Given the description of an element on the screen output the (x, y) to click on. 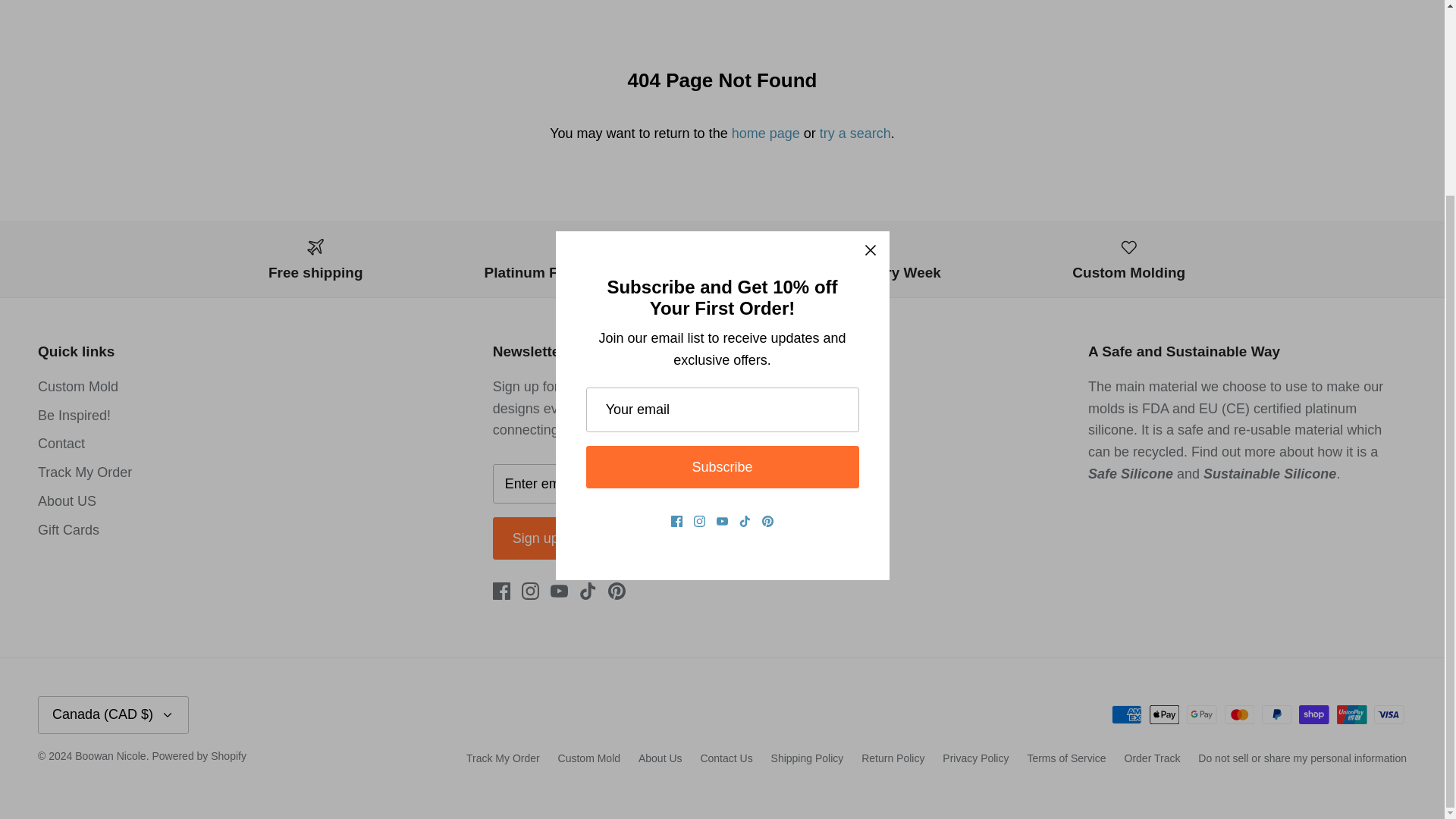
American Express (1126, 714)
Instagram (529, 590)
Is Silicone Sustainable? (1270, 473)
Facebook (502, 590)
Apple Pay (1164, 714)
Pinterest (617, 590)
Is Silicone Safe? (1130, 473)
Youtube (558, 590)
